Given the description of an element on the screen output the (x, y) to click on. 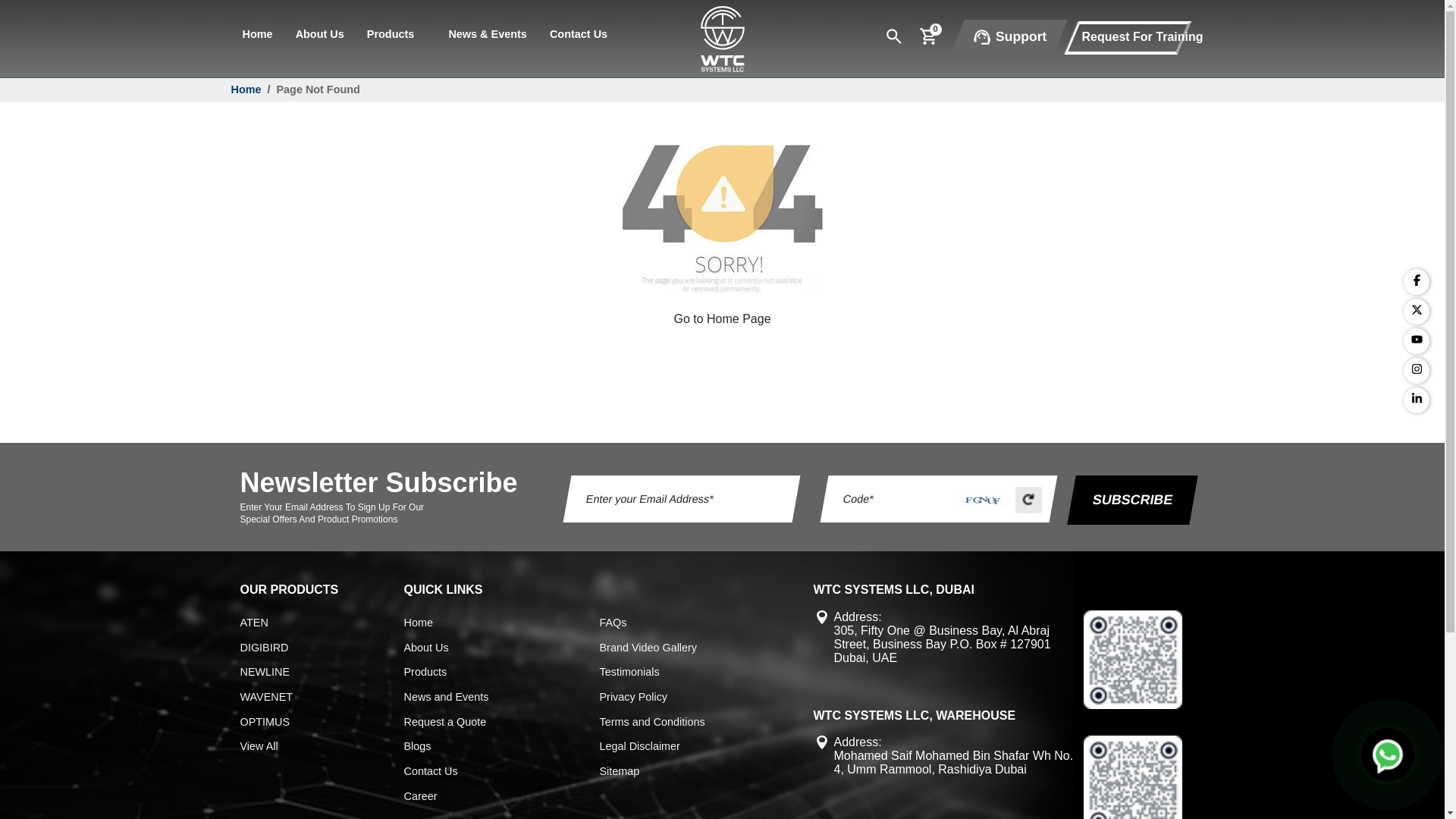
ATEN (253, 622)
Support (1002, 36)
SUBSCRIBE (1128, 499)
DIGIBIRD (264, 647)
WTC Systems LLC.. (722, 37)
Contact Us (430, 771)
OPTIMUS (264, 722)
Request For Training (1141, 36)
Blogs (416, 746)
Products (396, 33)
